Given the description of an element on the screen output the (x, y) to click on. 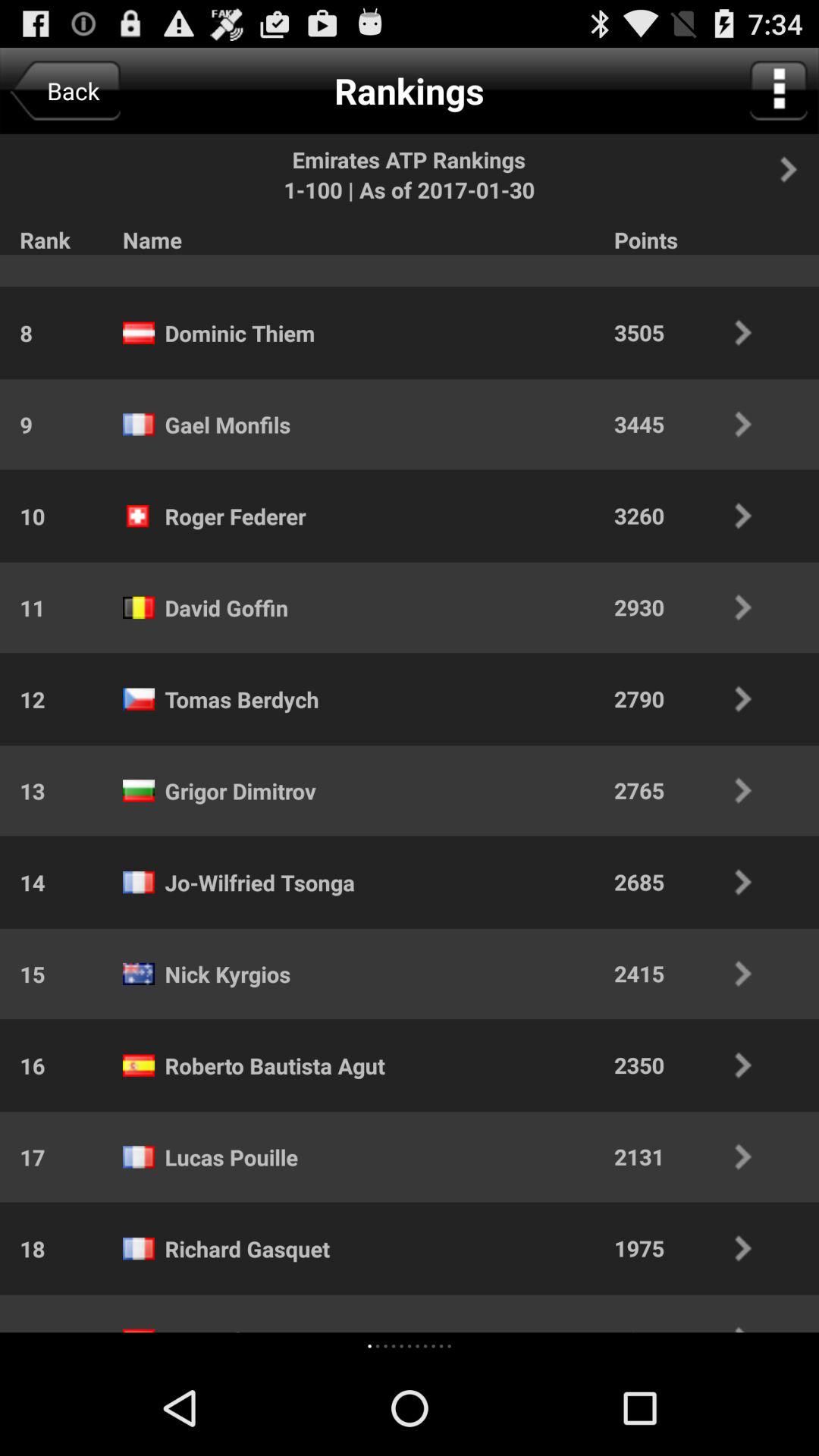
go to next (797, 169)
